Given the description of an element on the screen output the (x, y) to click on. 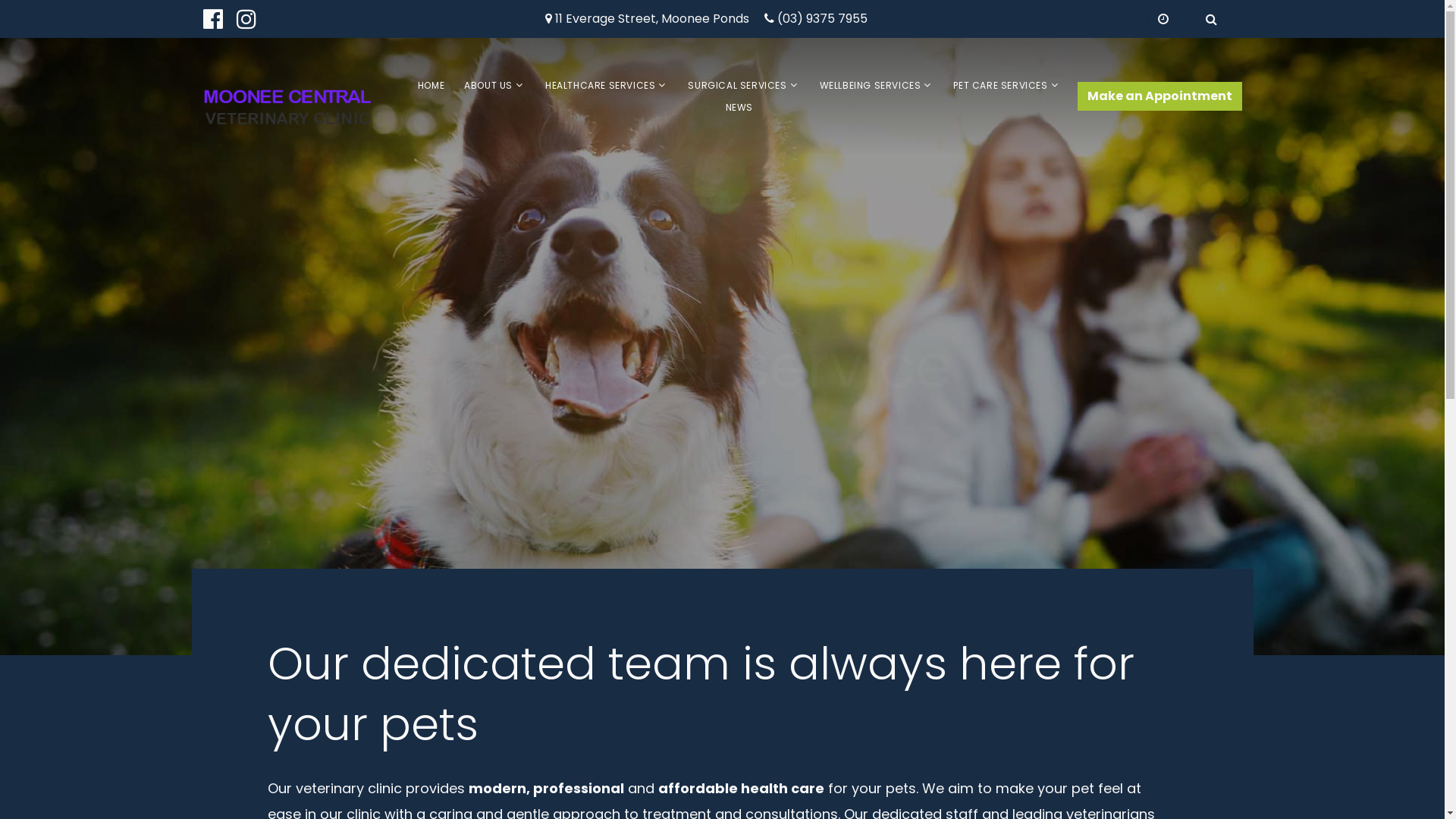
Make an Appointment Element type: text (1158, 95)
HEALTHCARE SERVICES Element type: text (600, 85)
HOME Element type: text (430, 85)
NEWS Element type: text (739, 106)
WELLBEING SERVICES Element type: text (870, 85)
PET CARE SERVICES Element type: text (1000, 85)
(03) 9375 7955 Element type: text (822, 19)
ABOUT US Element type: text (488, 85)
SURGICAL SERVICES Element type: text (736, 85)
